Given the description of an element on the screen output the (x, y) to click on. 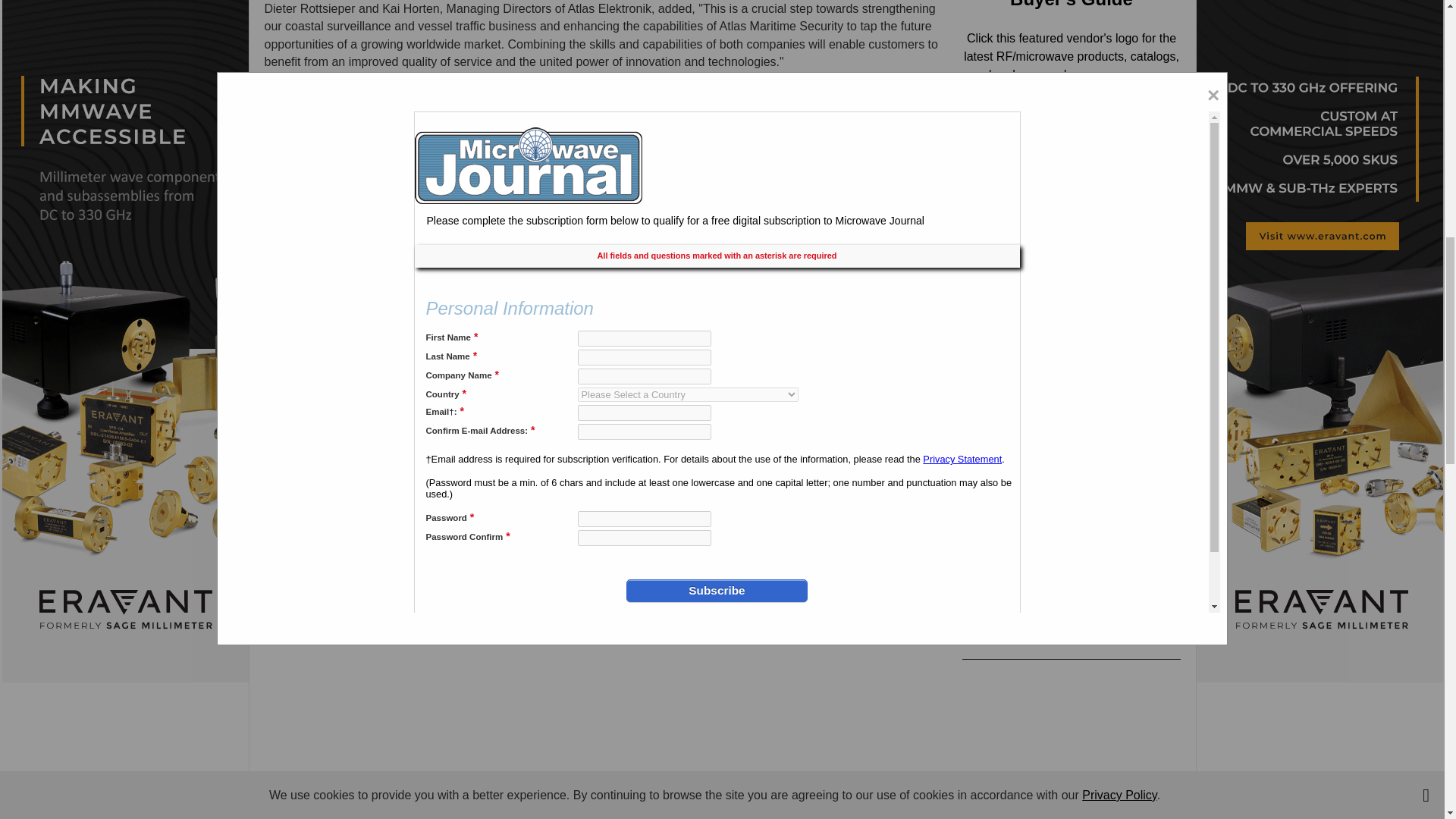
Go (438, 126)
Cassidian and Atlas Elektronik Create Signalis (376, 191)
NEW-42306.png (1010, 607)
3rd party ad content (1075, 748)
1 (342, 126)
NEW-42307.png (1010, 507)
Industrial Structure Agreed for Atlas Elektronik (379, 215)
